Given the description of an element on the screen output the (x, y) to click on. 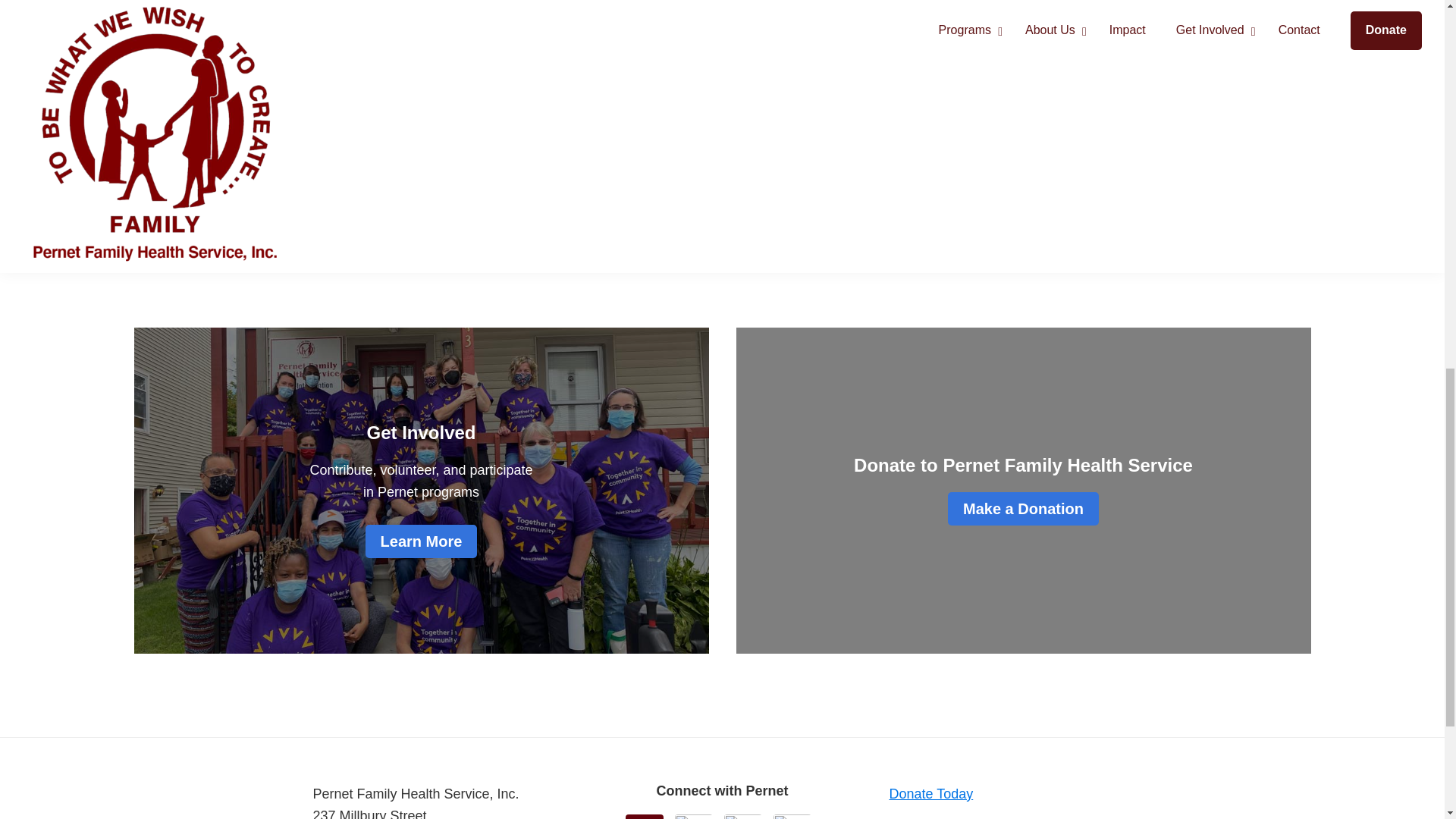
Make a Donation (1023, 508)
Learn More (421, 540)
Donate Today (930, 793)
